Given the description of an element on the screen output the (x, y) to click on. 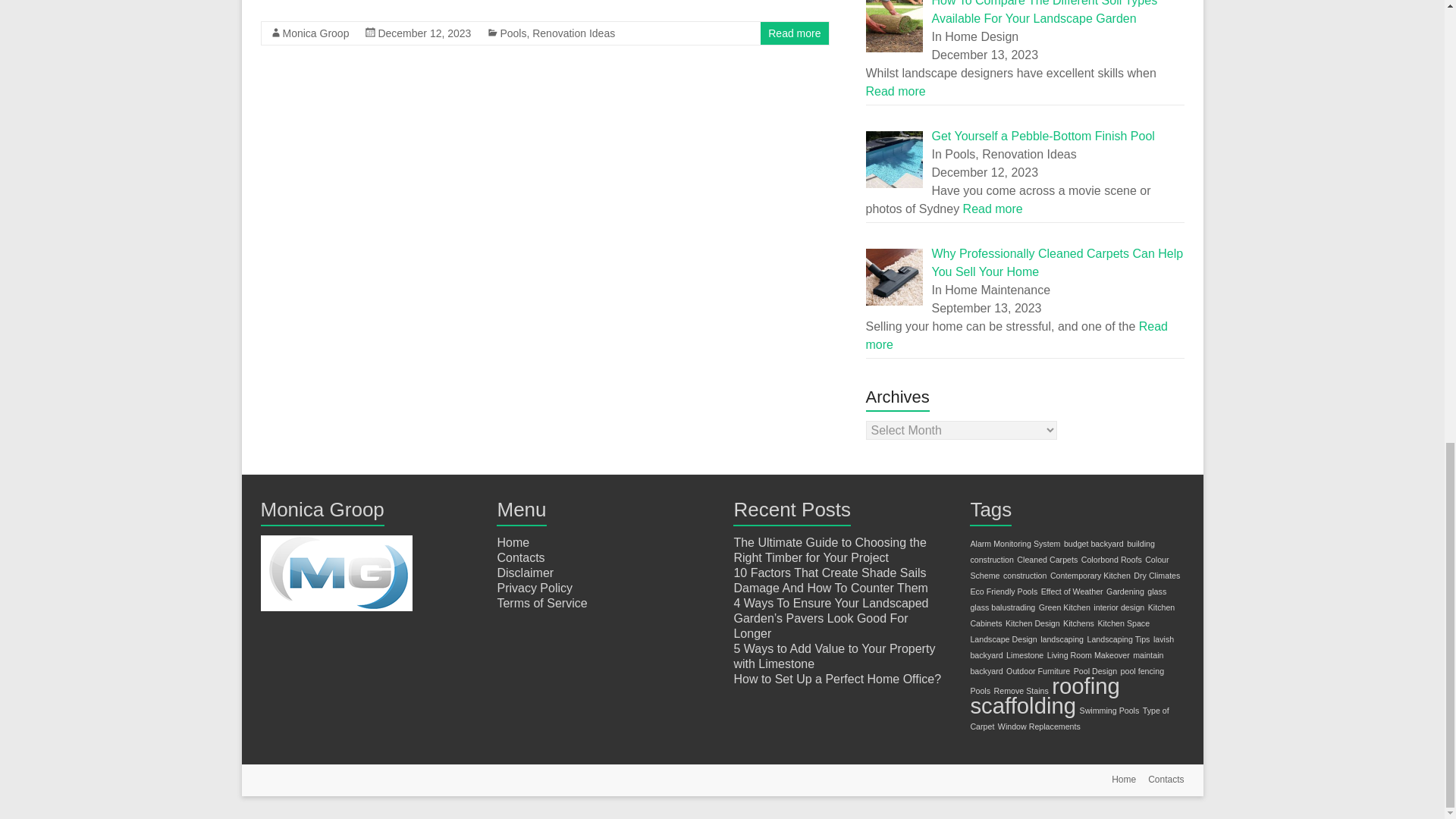
Renovation Ideas (573, 33)
Pools (512, 33)
Get Yourself a Pebble-Bottom Finish Pool (1042, 135)
December 12, 2023 (423, 33)
11:28 am (423, 33)
Monica Groop (315, 33)
Read more (992, 208)
Read more (896, 91)
